Given the description of an element on the screen output the (x, y) to click on. 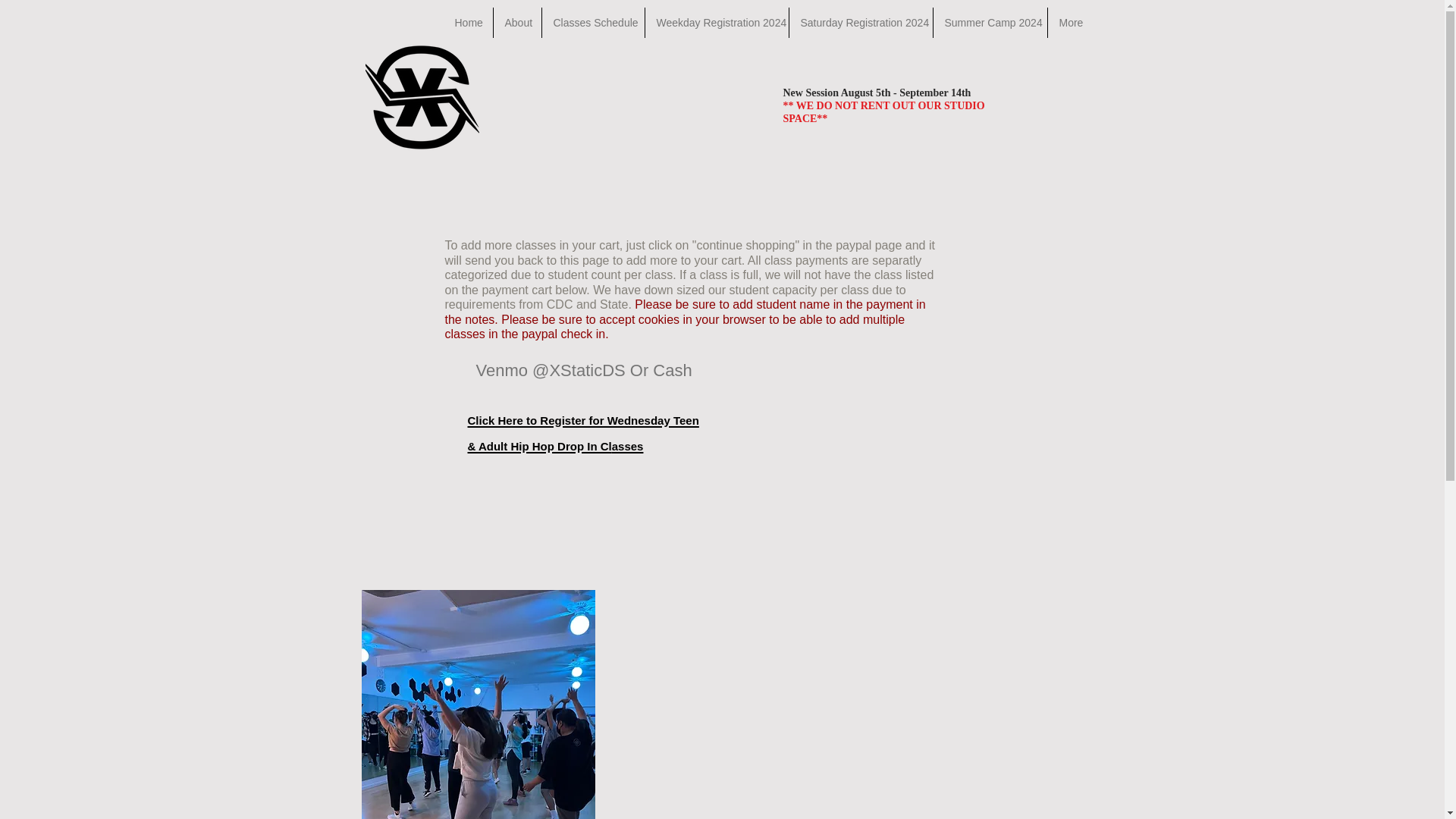
Weekday Registration 2024 (716, 22)
Classes Schedule (592, 22)
Summer Camp 2024 (989, 22)
Home (467, 22)
About (516, 22)
Saturday Registration 2024 (860, 22)
